Given the description of an element on the screen output the (x, y) to click on. 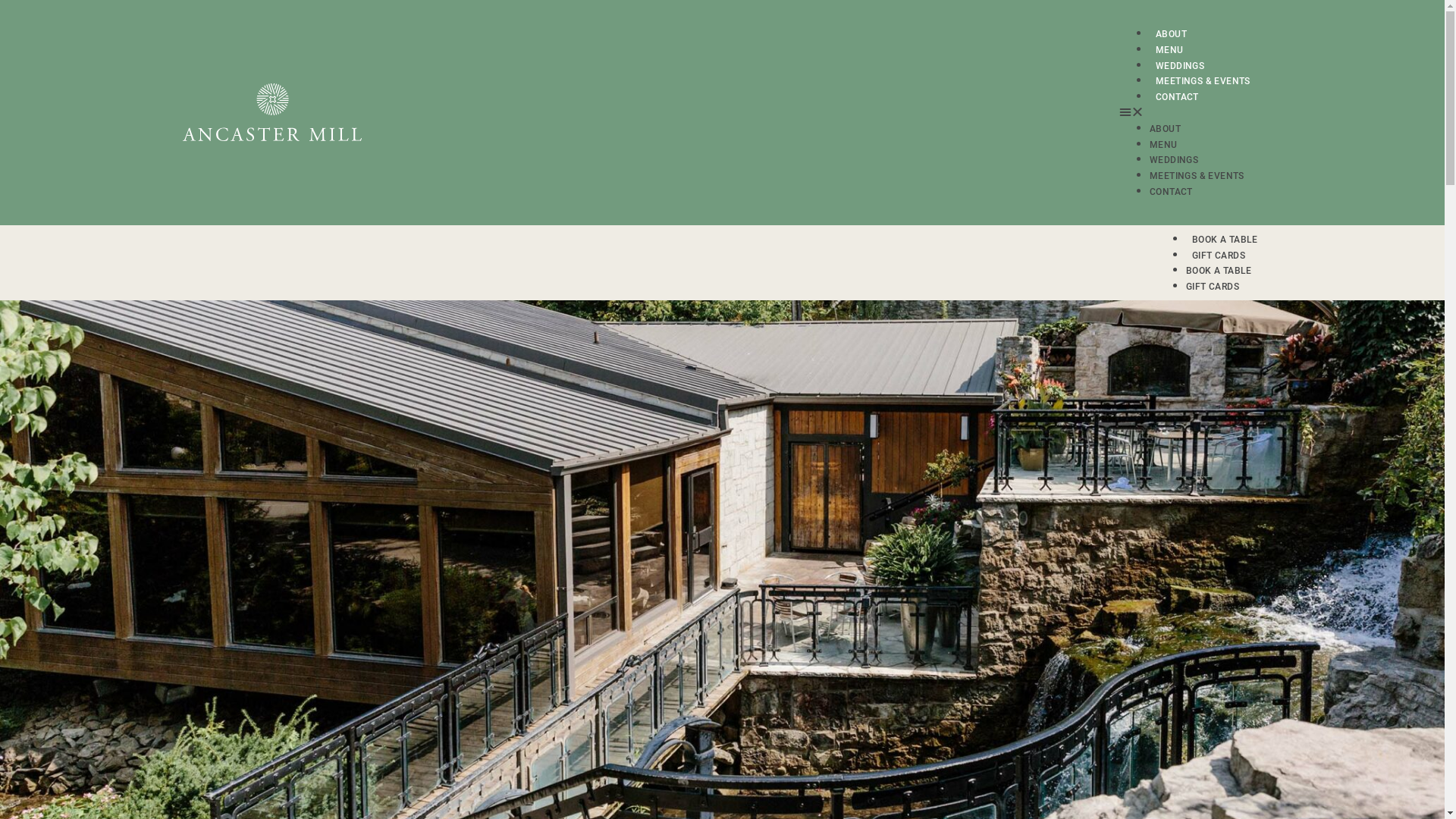
BOOK A TABLE Element type: text (1225, 239)
ABOUT Element type: text (1170, 33)
GIFT CARDS Element type: text (1212, 286)
ABOUT Element type: text (1164, 128)
CONTACT Element type: text (1176, 96)
MENU Element type: text (1163, 144)
WEDDINGS Element type: text (1173, 159)
MEETINGS & EVENTS Element type: text (1196, 175)
WEDDINGS Element type: text (1179, 65)
CONTACT Element type: text (1170, 191)
GIFT CARDS Element type: text (1218, 255)
BOOK A TABLE Element type: text (1219, 270)
MEETINGS & EVENTS Element type: text (1202, 80)
MENU Element type: text (1169, 49)
